Given the description of an element on the screen output the (x, y) to click on. 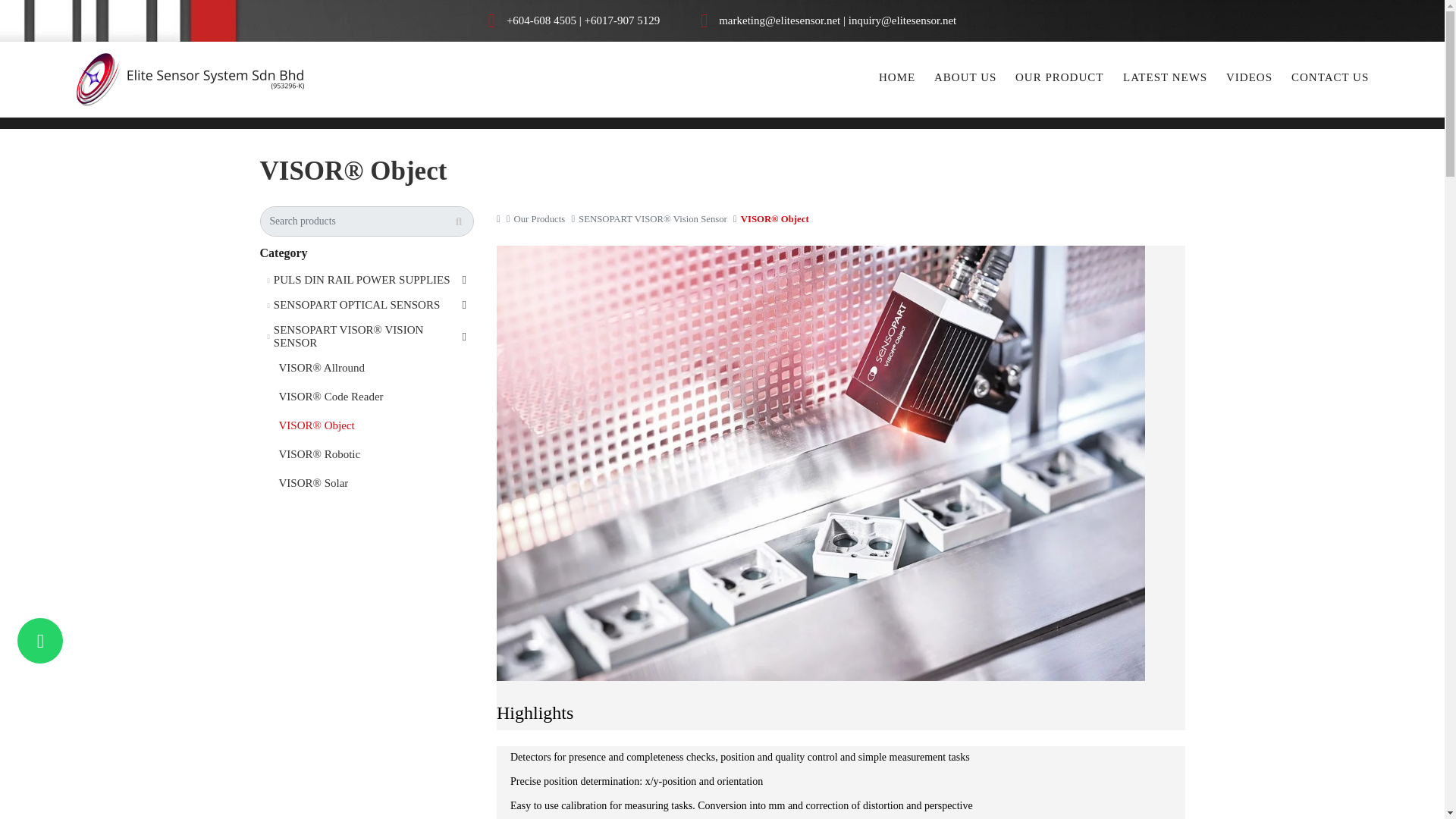
ELITE SENSOR SYSTEM SDN BHD (189, 79)
Our Product (1058, 79)
Our Products (540, 218)
LATEST NEWS (1164, 79)
PULS DIN RAIL POWER SUPPLIES (366, 279)
Videos (1248, 79)
Home (897, 79)
Contact Us (1329, 79)
VIDEOS (1248, 79)
HOME (897, 79)
OUR PRODUCT (1058, 79)
Latest News (1164, 79)
SENSOPART OPTICAL SENSORS (366, 304)
About Us (964, 79)
ABOUT US (964, 79)
